Given the description of an element on the screen output the (x, y) to click on. 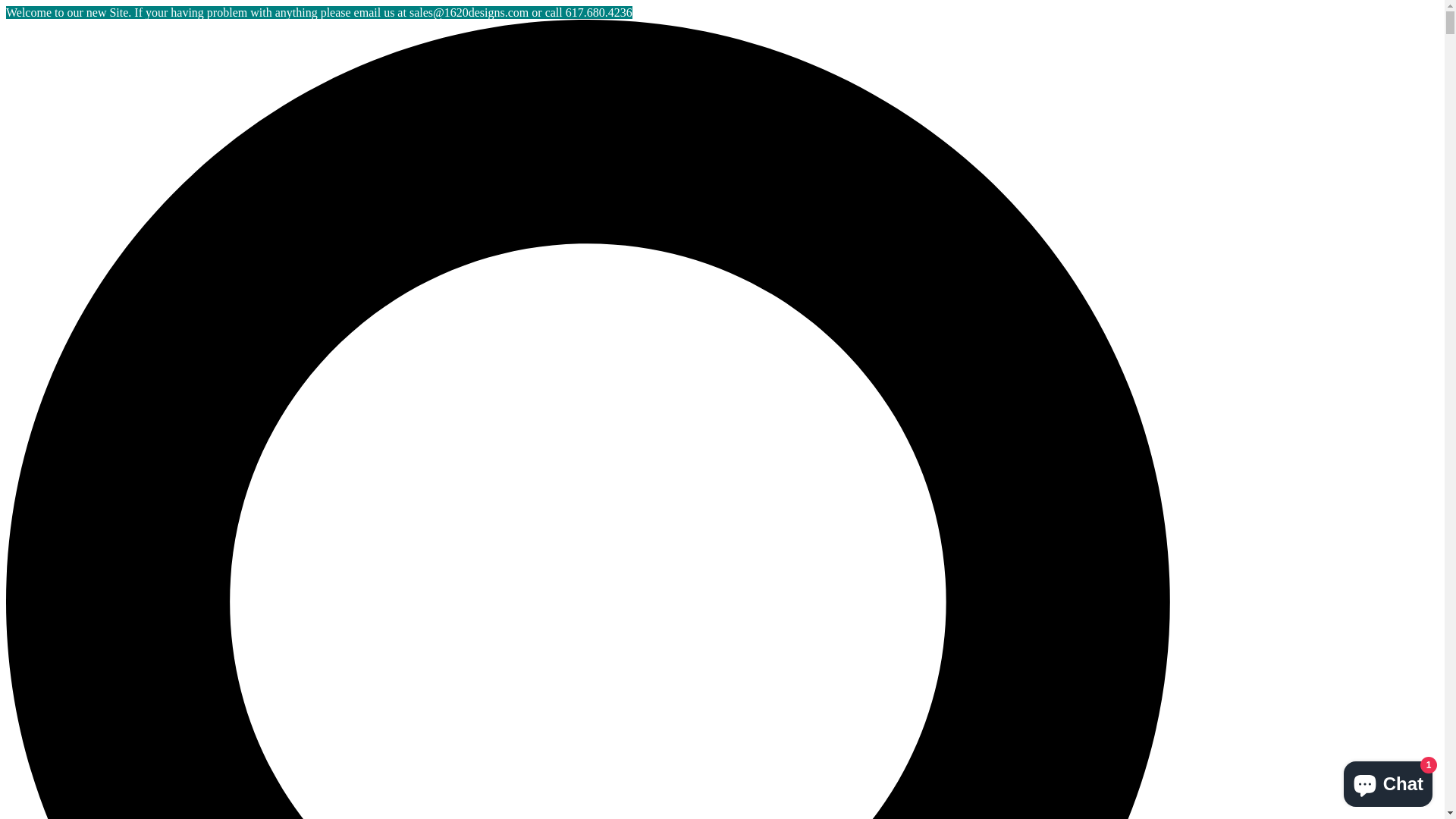
Shopify online store chat Element type: hover (1388, 780)
